Given the description of an element on the screen output the (x, y) to click on. 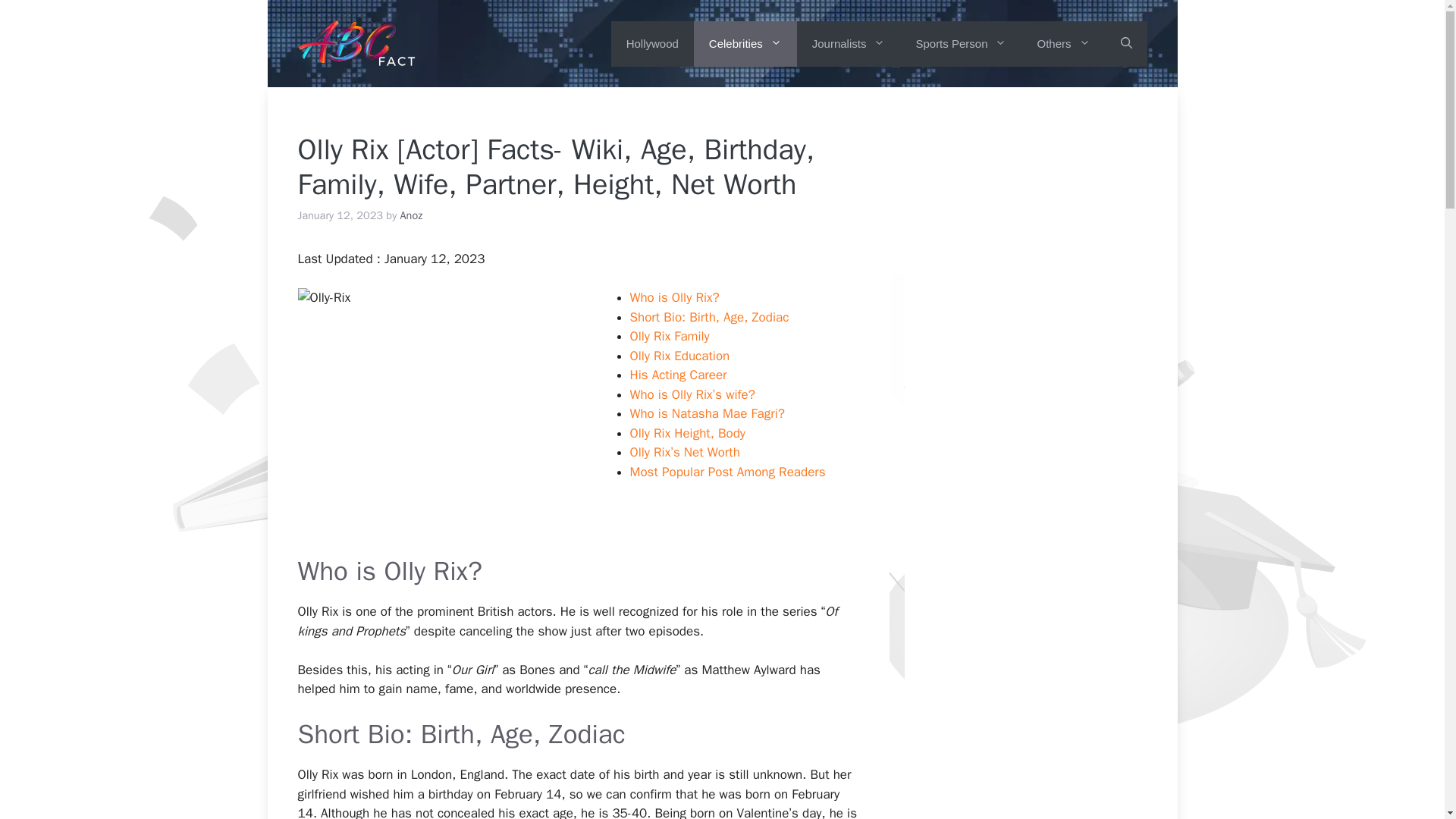
Celebrities (745, 43)
His Acting Career (677, 374)
Who is Olly Rix? (673, 297)
Journalists (848, 43)
Short Bio: Birth, Age, Zodiac (708, 317)
Hollywood (652, 43)
View all posts by Anoz (411, 214)
Olly Rix Height, Body (686, 433)
Sports Person (960, 43)
Olly Rix Family (668, 335)
